Given the description of an element on the screen output the (x, y) to click on. 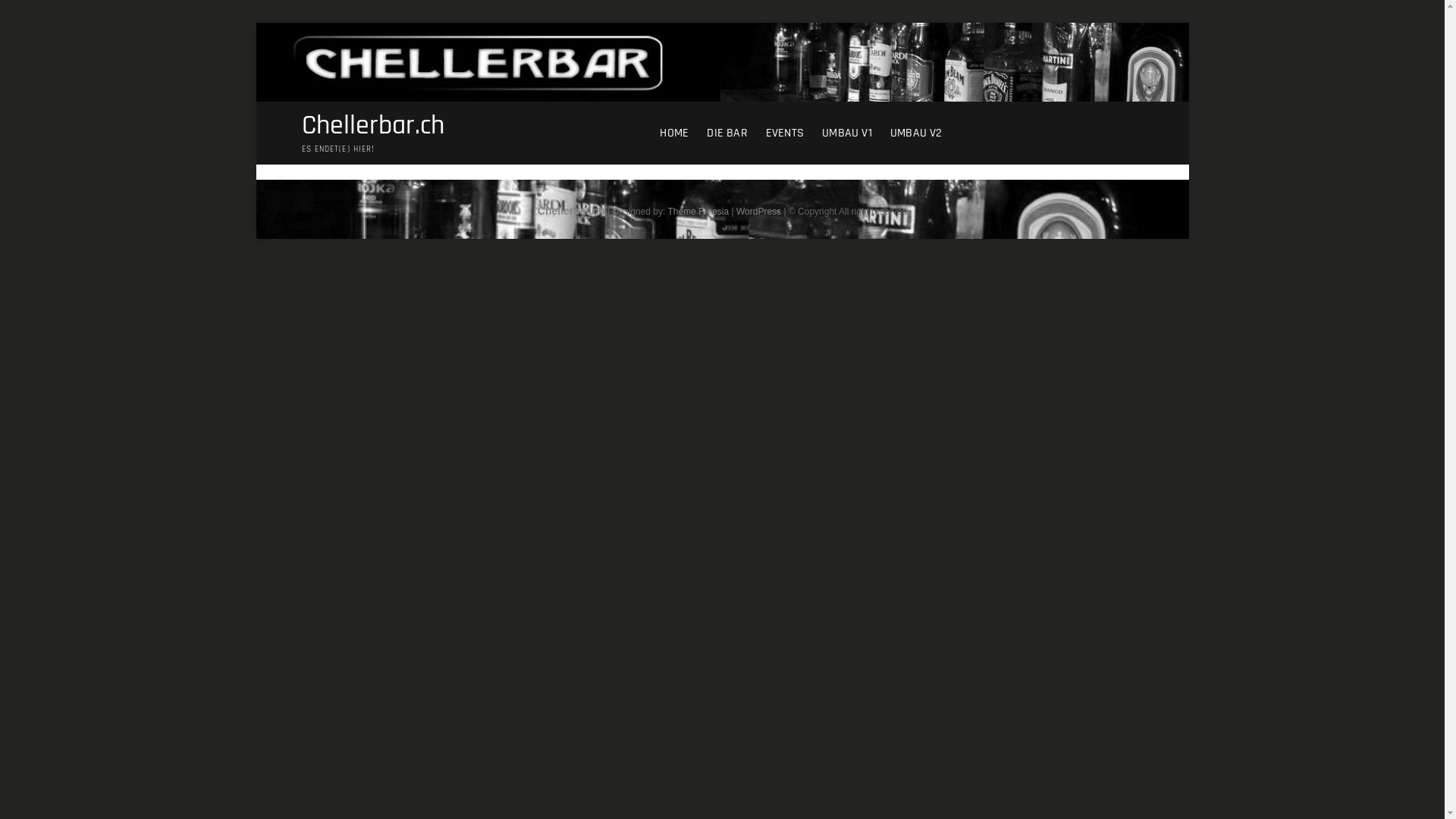
UMBAU V1 Element type: text (846, 133)
EVENTS Element type: text (784, 133)
UMBAU V2 Element type: text (916, 133)
Chellerbar.ch Element type: text (571, 210)
Theme Freesia Element type: text (697, 211)
Skip to content Element type: text (254, 21)
DIE BAR Element type: text (726, 133)
WordPress Element type: text (758, 211)
HOME Element type: text (674, 133)
Chellerbar.ch Element type: text (372, 125)
